Given the description of an element on the screen output the (x, y) to click on. 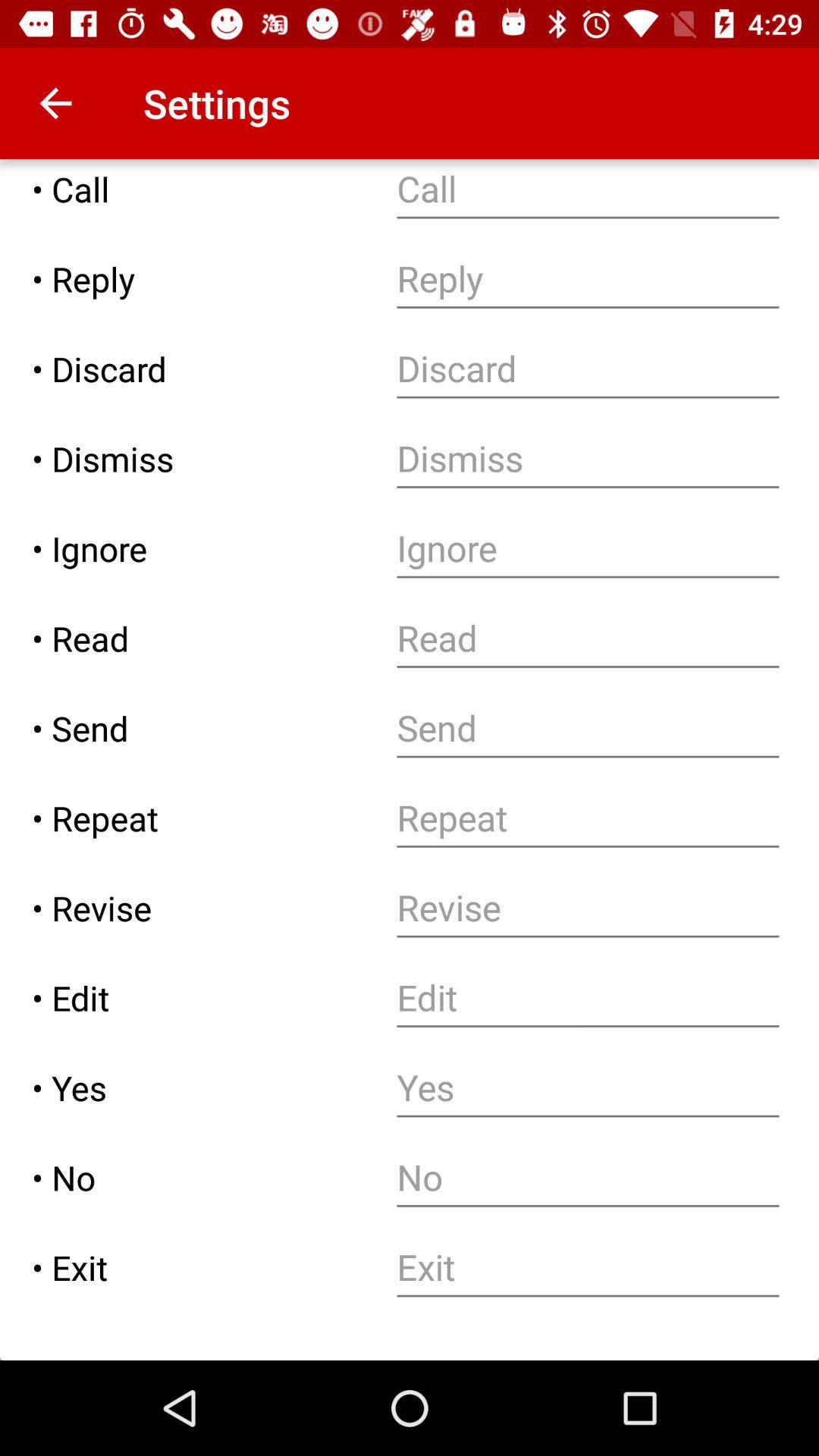
new revision (588, 908)
